Given the description of an element on the screen output the (x, y) to click on. 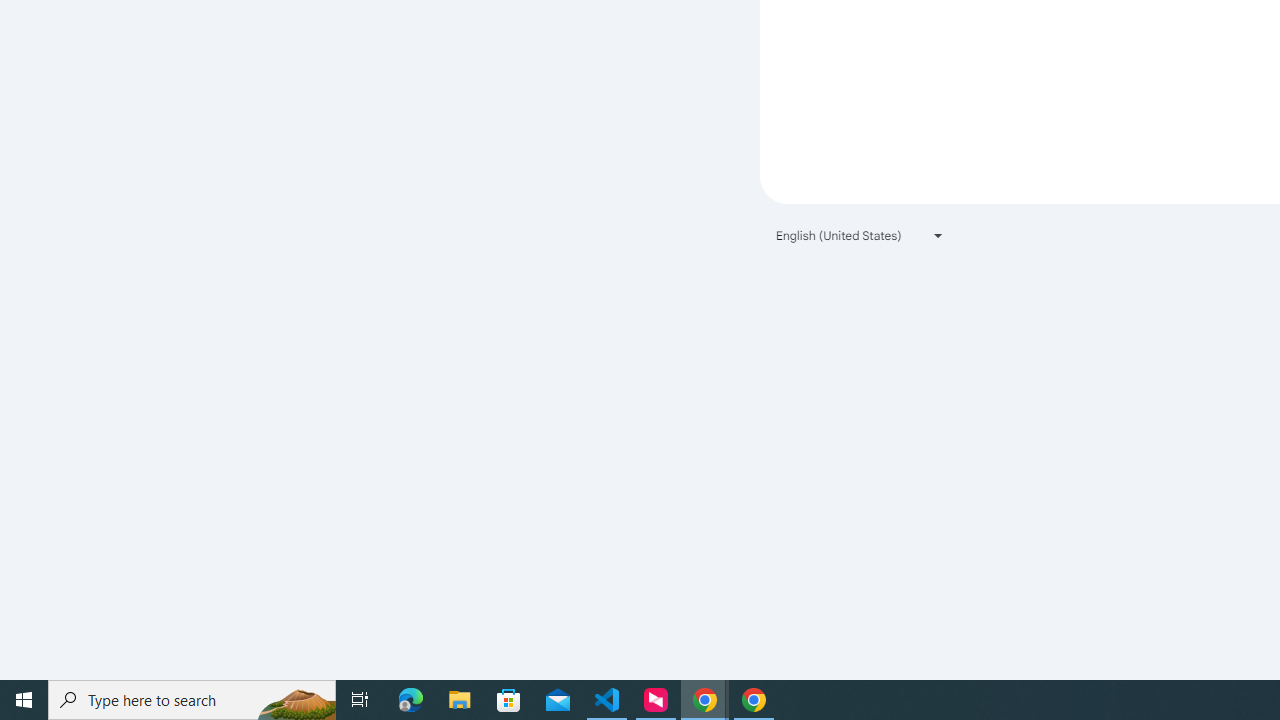
English (United States) (860, 234)
